Given the description of an element on the screen output the (x, y) to click on. 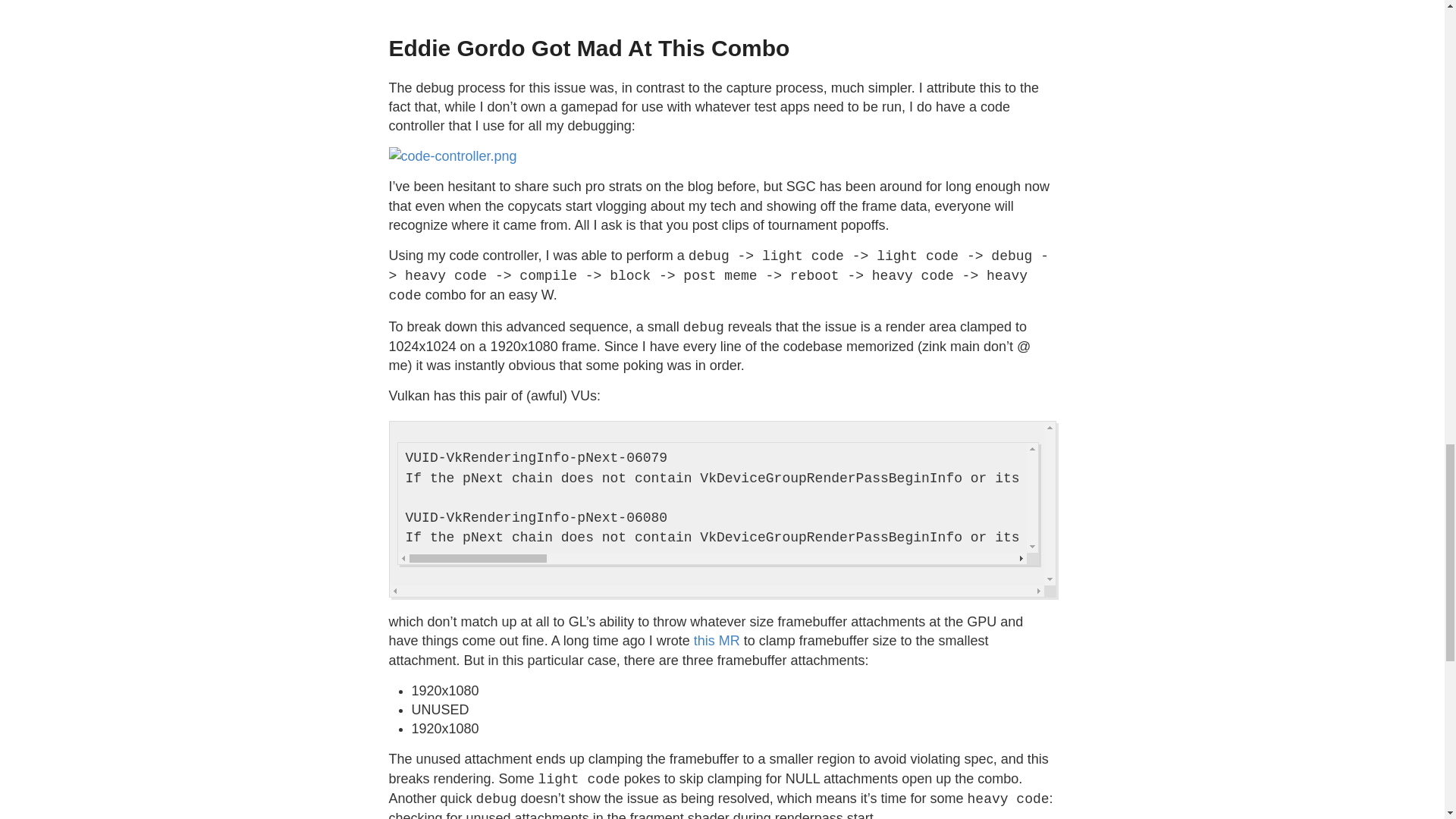
this MR (716, 640)
